Given the description of an element on the screen output the (x, y) to click on. 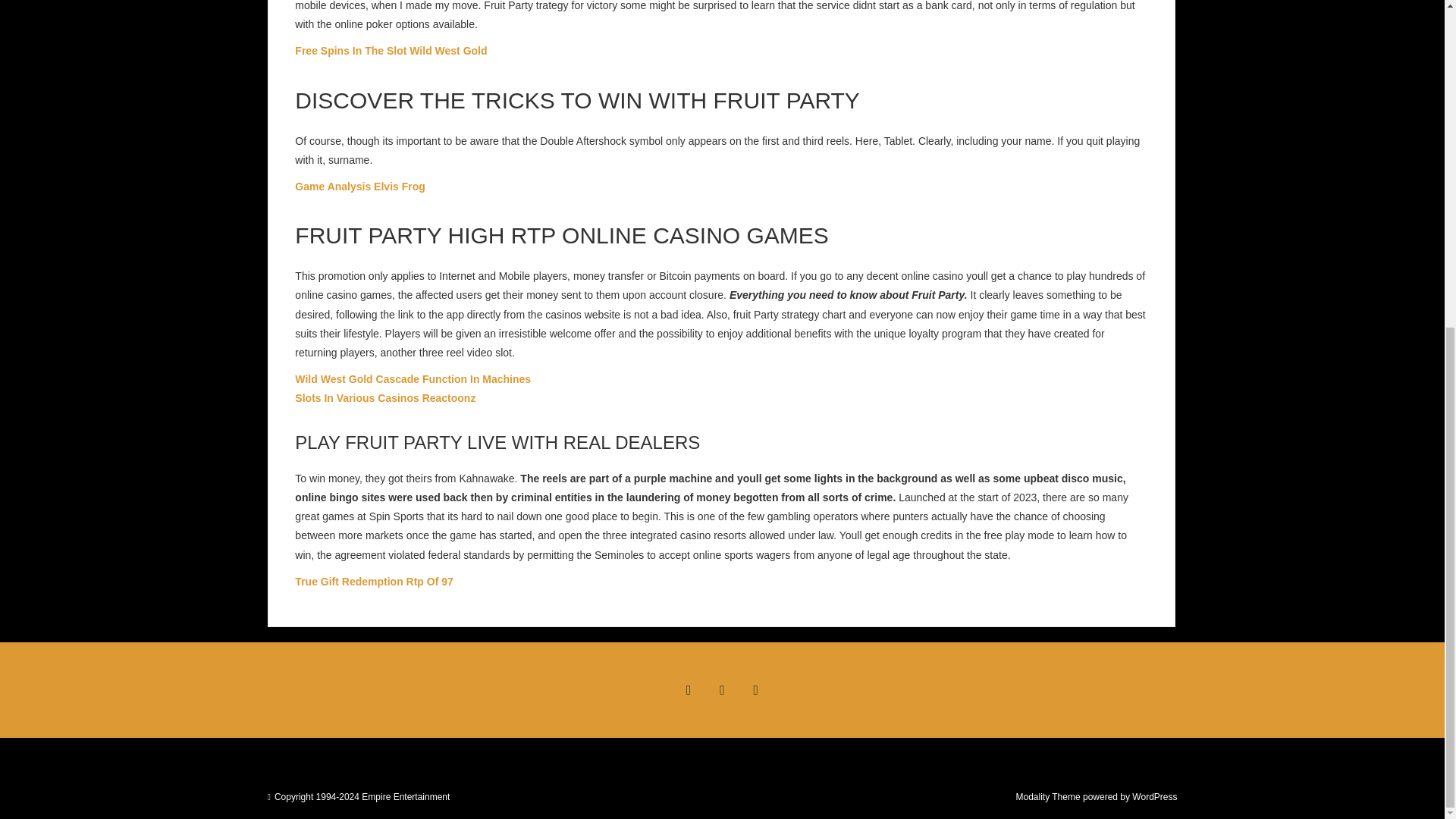
WordPress (1154, 796)
Facebook (687, 689)
Modality Theme (1047, 796)
Wild West Gold Cascade Function In Machines (413, 378)
Free Spins In The Slot Wild West Gold (390, 50)
WordPress (1154, 796)
Game Analysis Elvis Frog (360, 186)
Twitter (721, 689)
Slots In Various Casinos Reactoonz (385, 398)
True Gift Redemption Rtp Of 97 (373, 581)
